Given the description of an element on the screen output the (x, y) to click on. 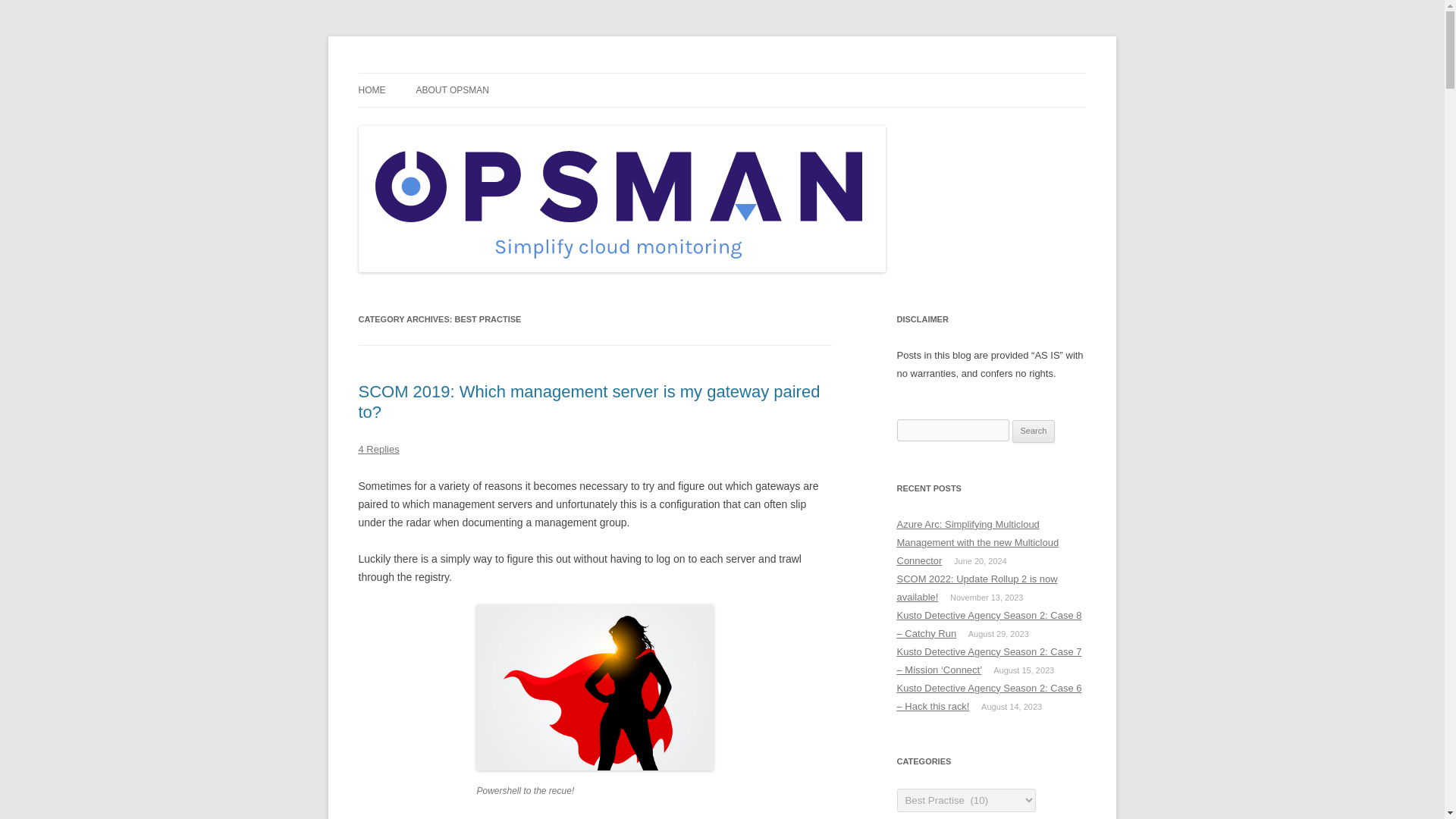
SCOM 2019: Which management server is my gateway paired to? (588, 401)
OpsMan (396, 72)
Search (1033, 431)
ABOUT OPSMAN (450, 90)
4 Replies (378, 449)
